Given the description of an element on the screen output the (x, y) to click on. 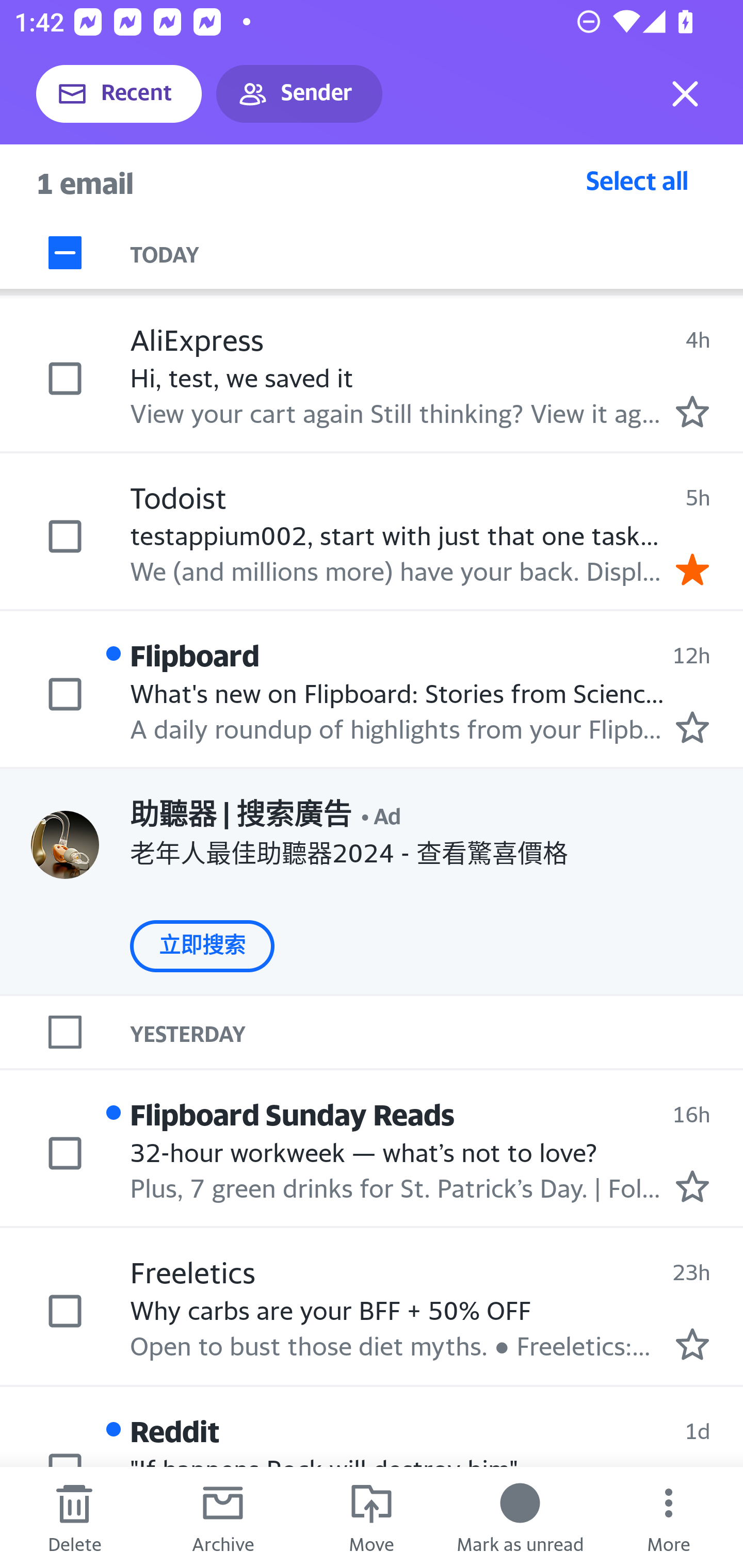
Sender (299, 93)
Exit selection mode (684, 93)
Select all (637, 180)
Mark as starred. (692, 411)
Remove star. (692, 569)
Mark as starred. (692, 726)
YESTERDAY (436, 1032)
Mark as starred. (692, 1186)
Mark as starred. (692, 1344)
Delete (74, 1517)
Archive (222, 1517)
Move (371, 1517)
Mark as unread (519, 1517)
More (668, 1517)
